Given the description of an element on the screen output the (x, y) to click on. 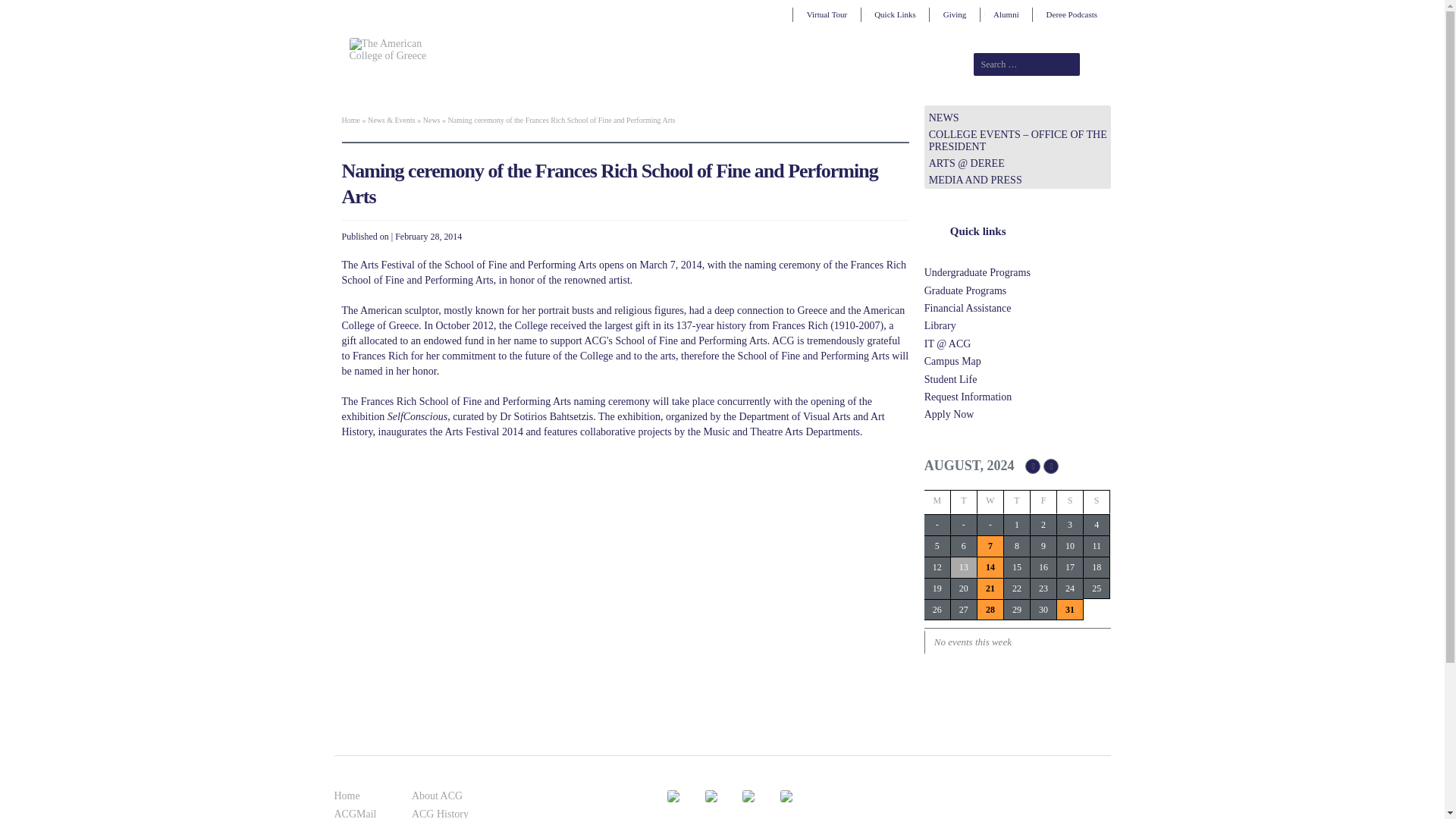
Giving (954, 14)
Quick Links (895, 14)
Search (1098, 64)
UNDERGRADUATE (664, 80)
Alumni (1006, 14)
Deree Podcasts (1071, 14)
Go to The American College of Greece. (349, 120)
Virtual Tour (826, 14)
Search (1098, 64)
Search (1098, 64)
